Given the description of an element on the screen output the (x, y) to click on. 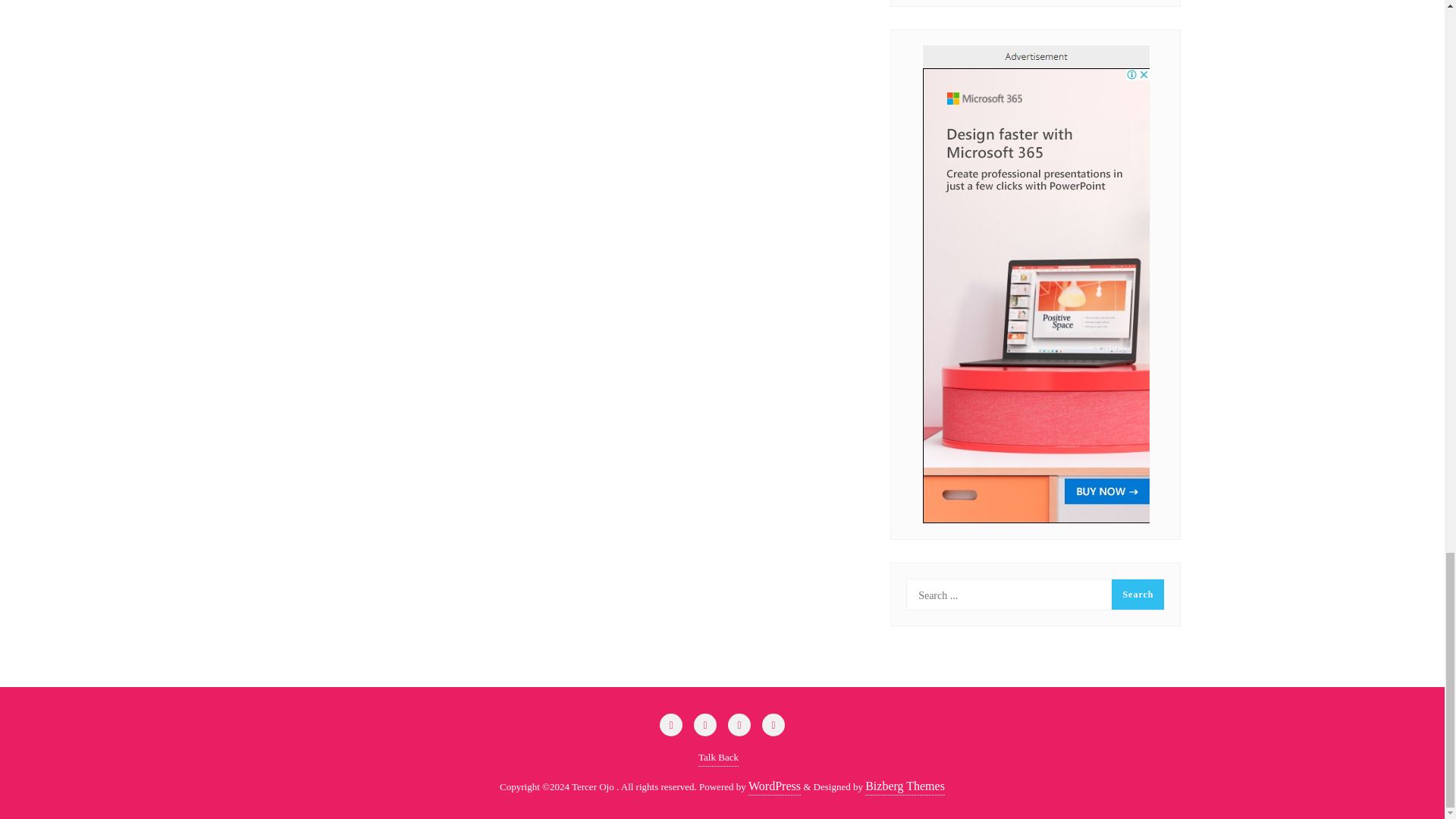
Search (1137, 594)
Search (1137, 594)
